Given the description of an element on the screen output the (x, y) to click on. 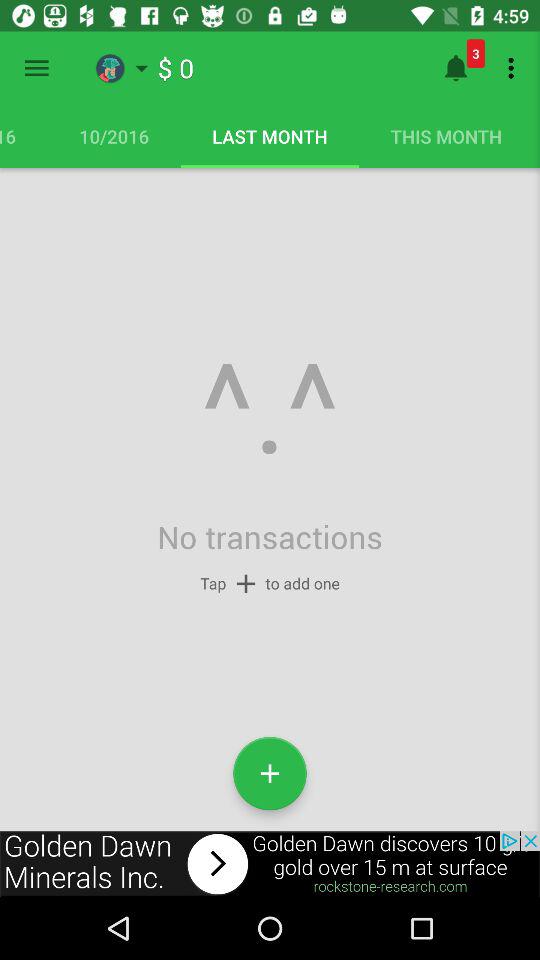
open advertisement (270, 864)
